Given the description of an element on the screen output the (x, y) to click on. 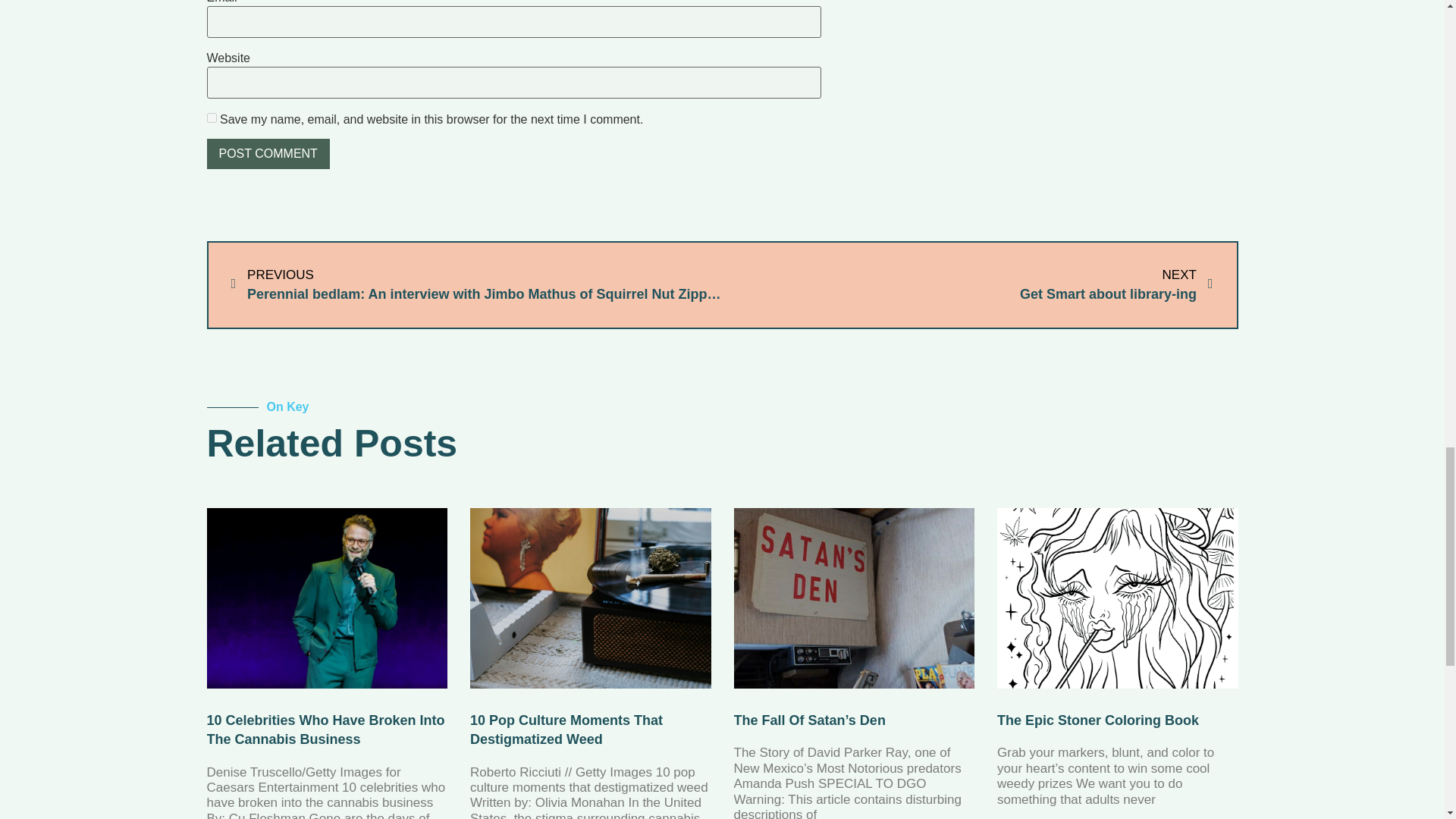
Post Comment (267, 153)
yes (210, 117)
